Given the description of an element on the screen output the (x, y) to click on. 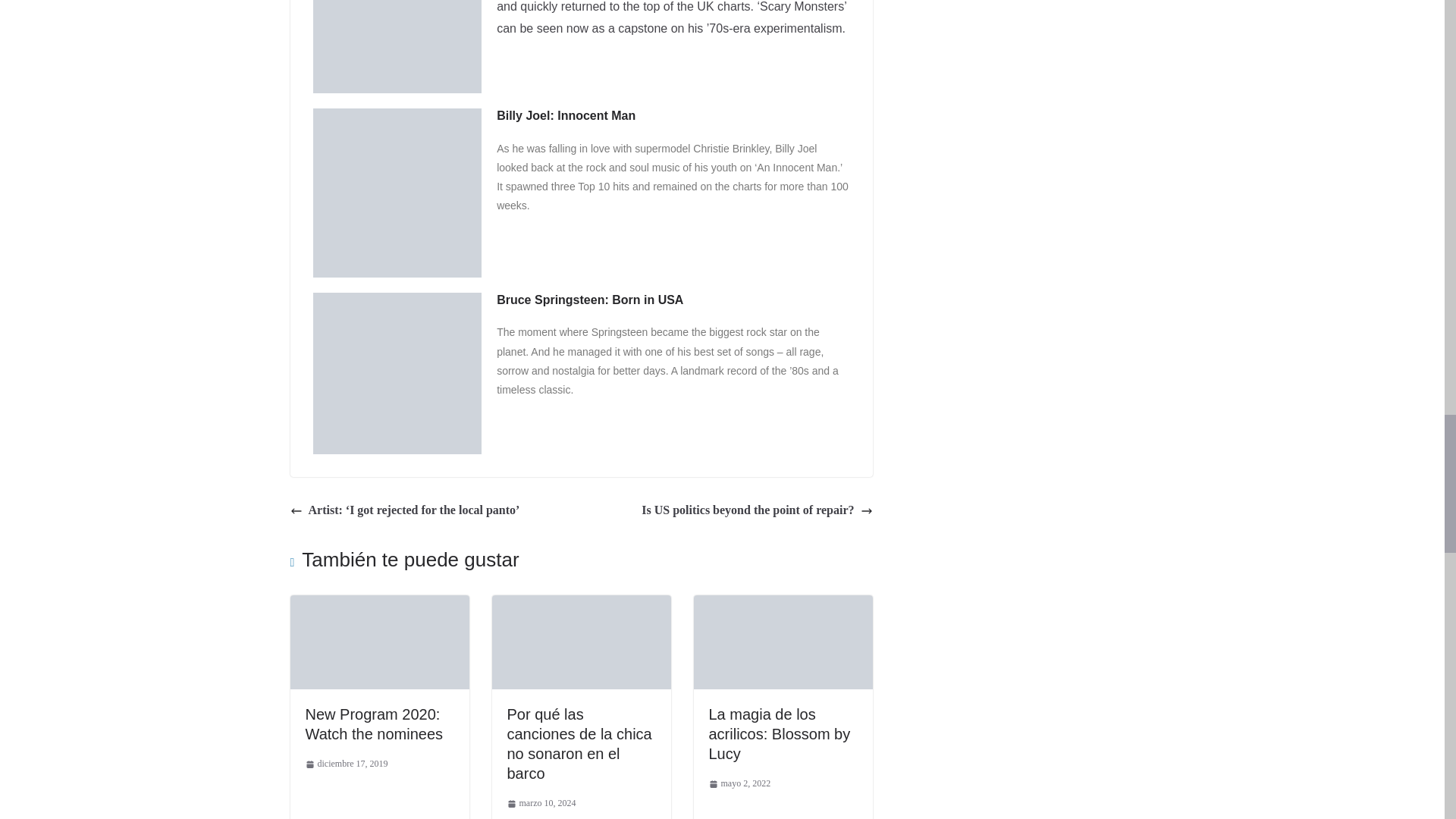
8:49 am (540, 803)
La magia de los acrilicos: Blossom by Lucy (778, 733)
3:50 am (738, 783)
La magia de los acrilicos: Blossom by Lucy (782, 604)
10:31 am (345, 764)
New Program 2020: Watch the nominees (378, 604)
New Program 2020: Watch the nominees (373, 723)
marzo 10, 2024 (540, 803)
Is US politics beyond the point of repair? (757, 510)
New Program 2020: Watch the nominees (373, 723)
